Given the description of an element on the screen output the (x, y) to click on. 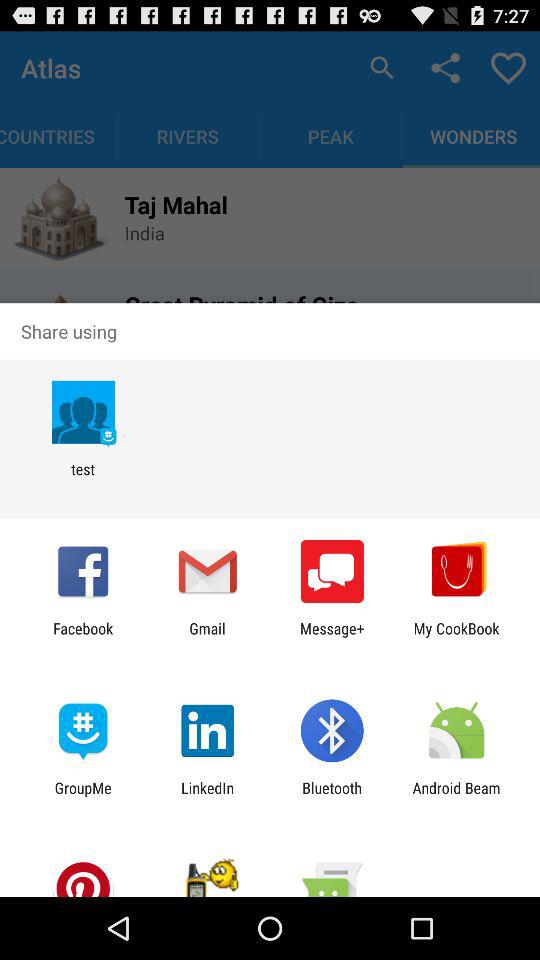
jump to gmail (207, 637)
